Given the description of an element on the screen output the (x, y) to click on. 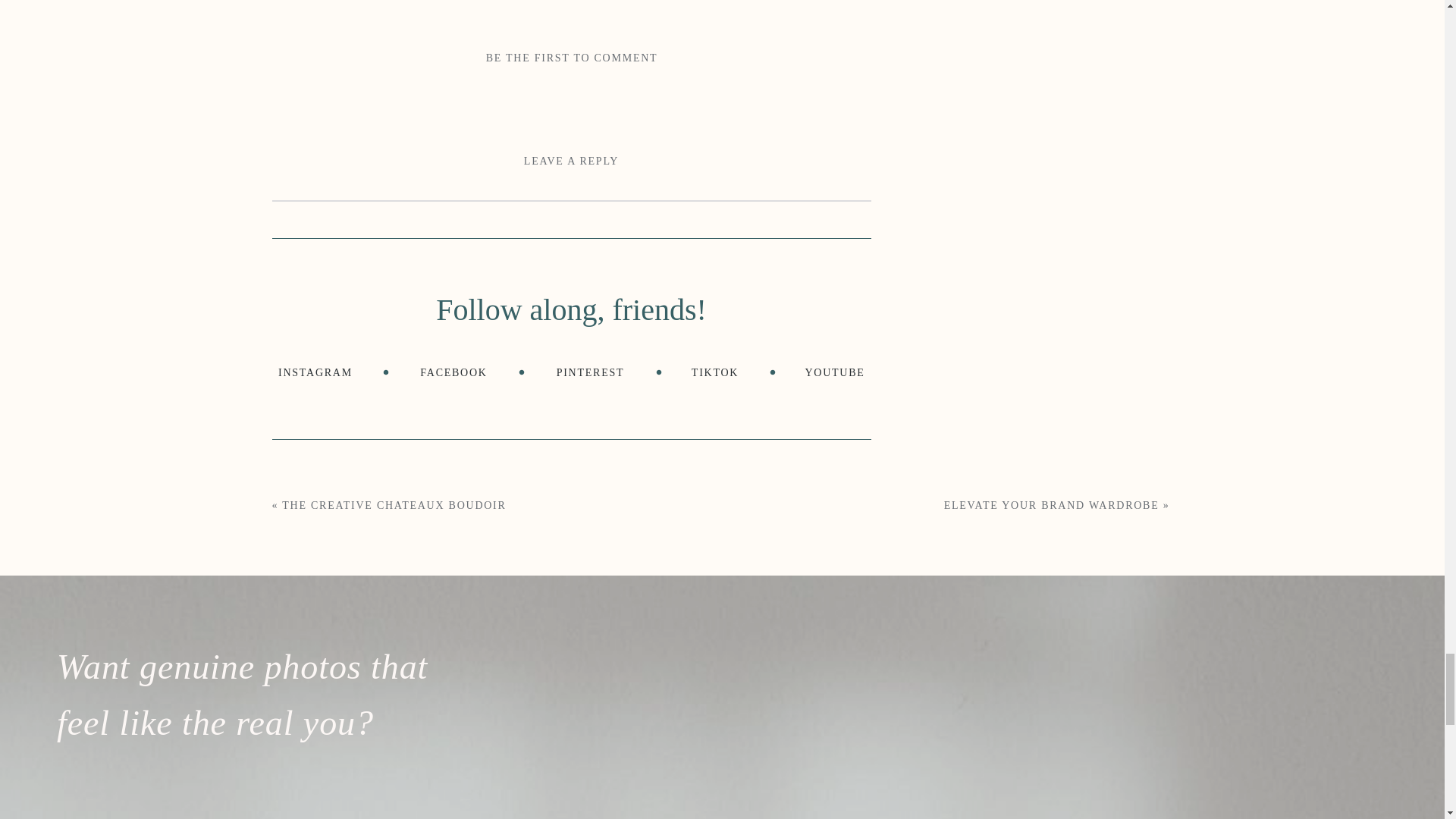
FACEBOOK (454, 371)
TIKTOK (714, 371)
ELEVATE YOUR BRAND WARDROBE (1050, 505)
THE CREATIVE CHATEAUX BOUDOIR (393, 505)
PINTEREST (589, 371)
YOUTUBE (834, 371)
INSTAGRAM (315, 371)
BE THE FIRST TO COMMENT (572, 57)
